Given the description of an element on the screen output the (x, y) to click on. 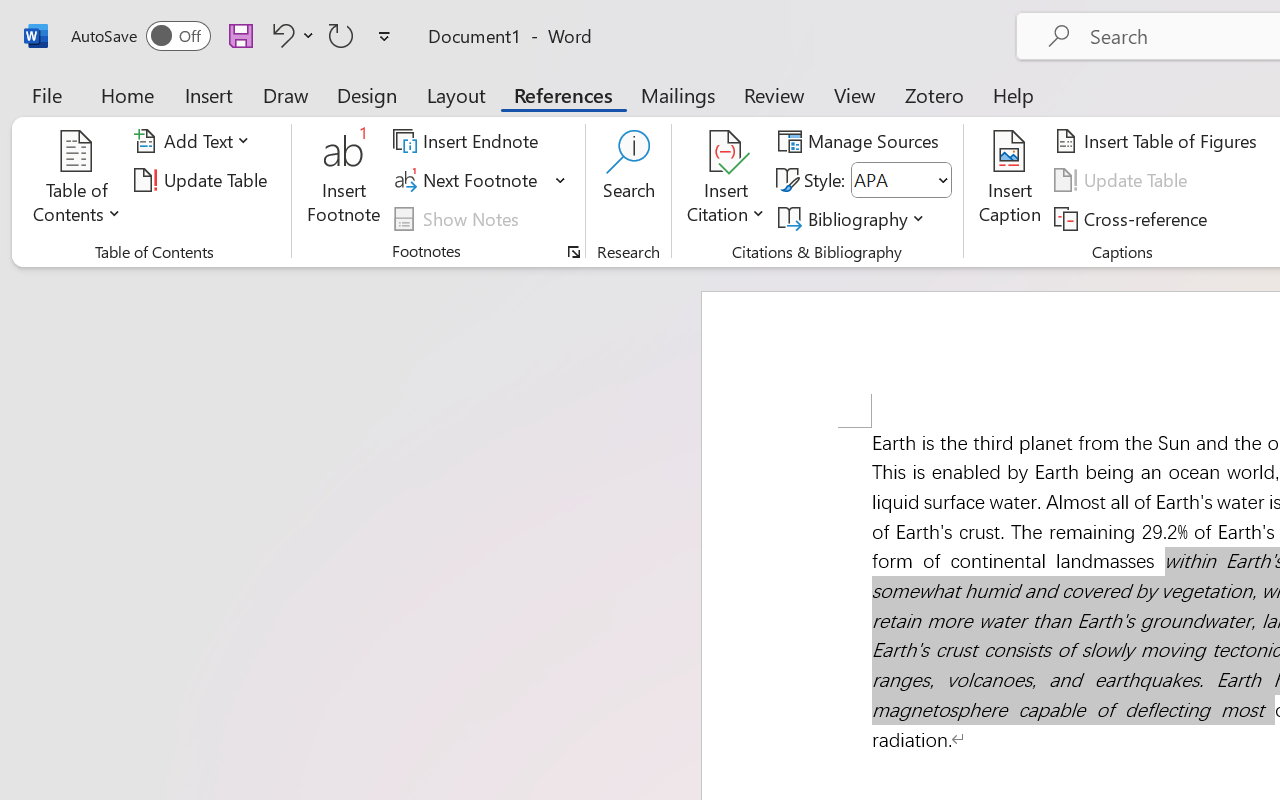
Manage Sources... (861, 141)
Open (942, 179)
Insert Table of Figures... (1158, 141)
Insert Citation (726, 179)
Style (901, 179)
